Given the description of an element on the screen output the (x, y) to click on. 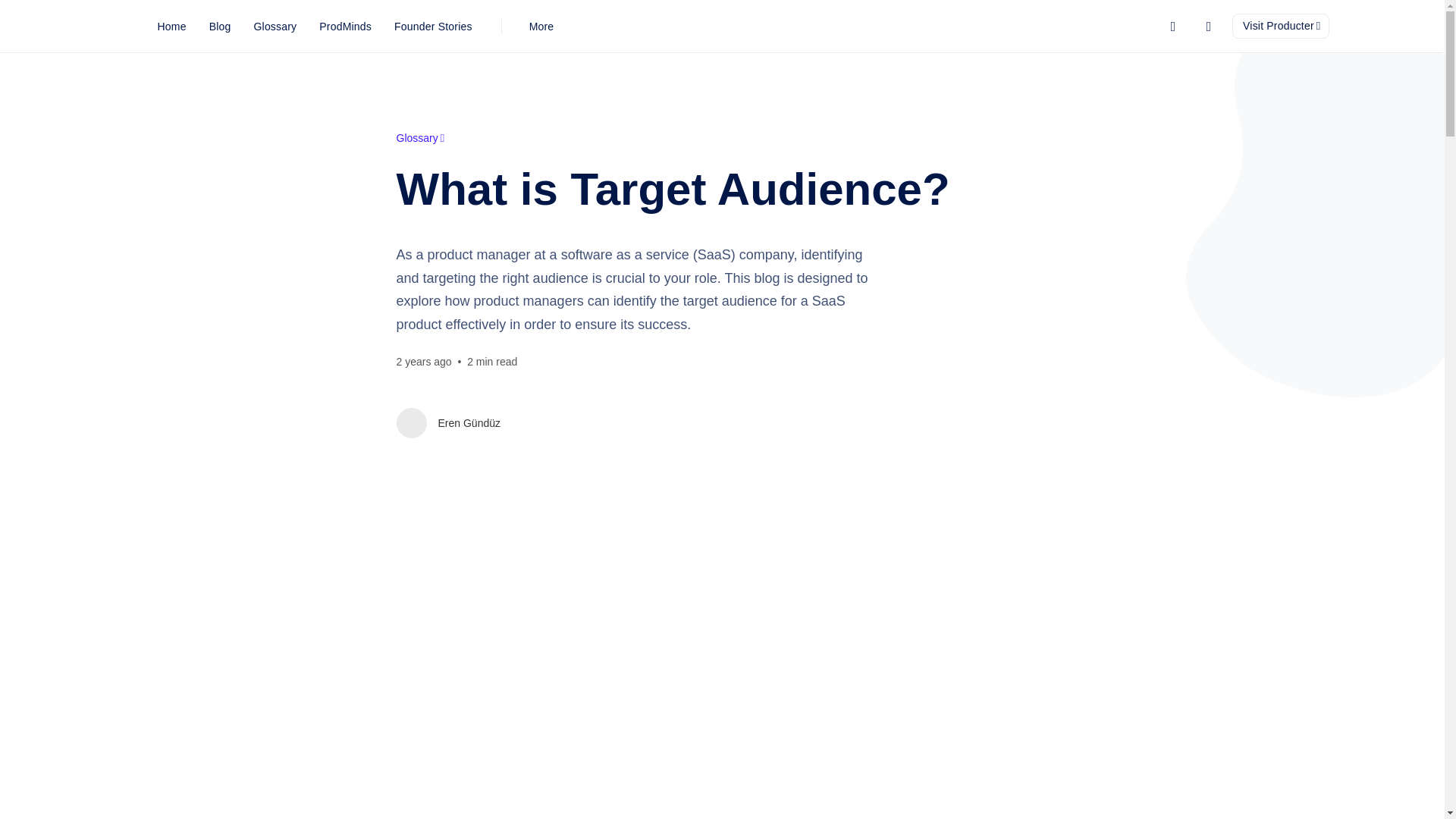
Home (170, 26)
More (542, 26)
Glossary (274, 26)
Glossary (420, 138)
Blog (220, 26)
ProdMinds (344, 26)
Visit Producter (1279, 25)
Founder Stories (432, 26)
